Given the description of an element on the screen output the (x, y) to click on. 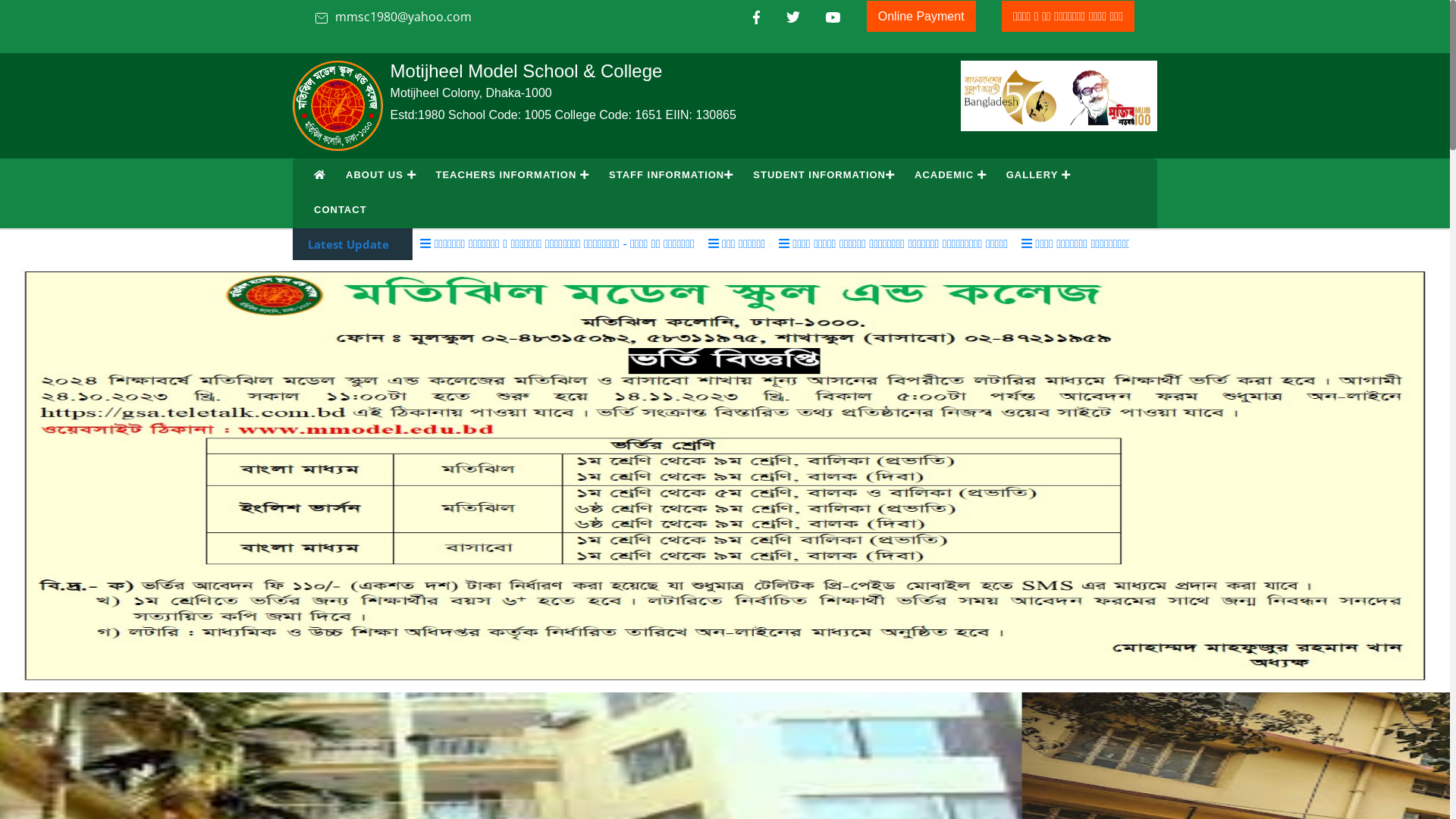
CONTACT Element type: text (340, 209)
Online Payment Element type: text (920, 15)
